Given the description of an element on the screen output the (x, y) to click on. 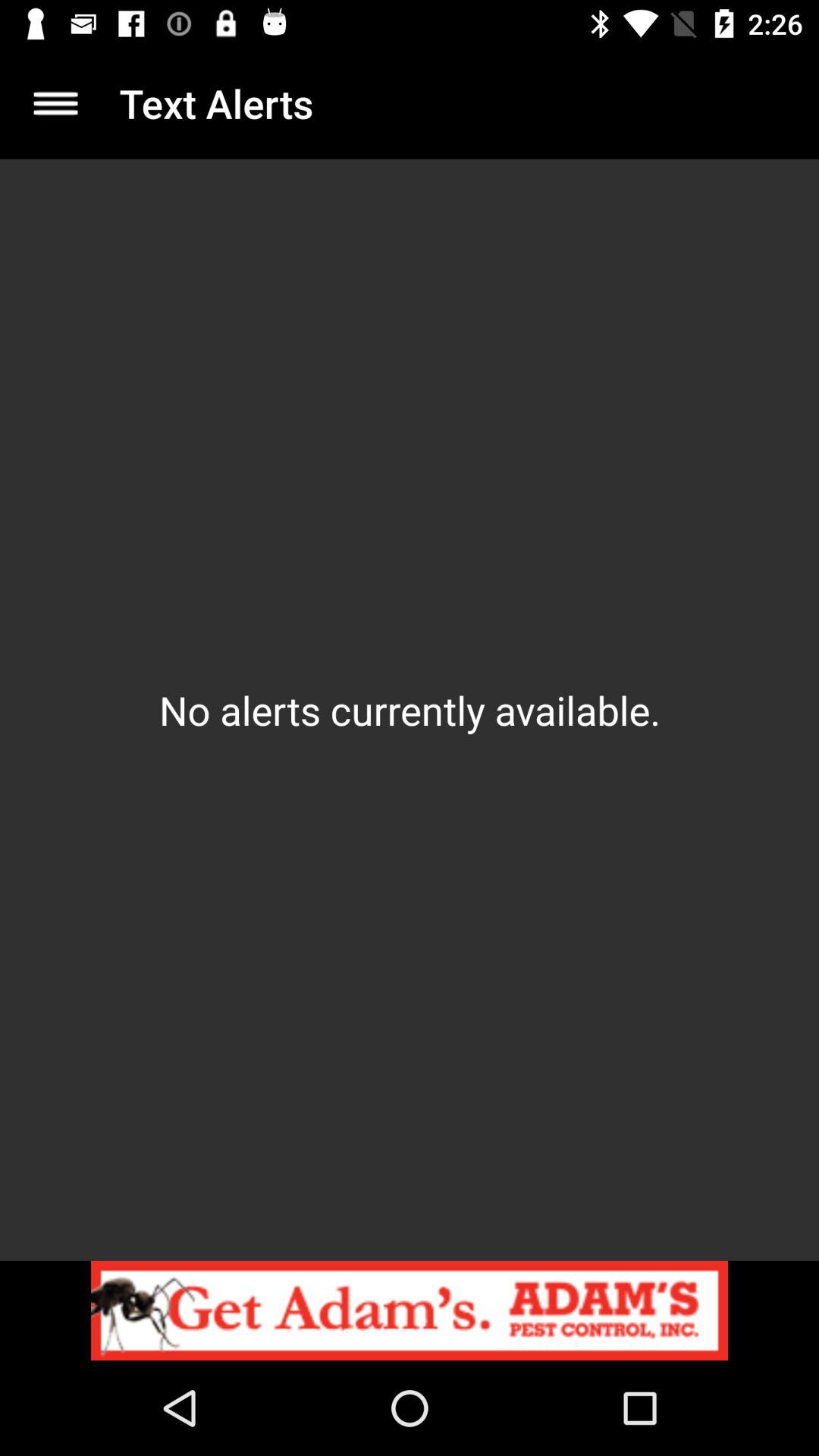
go to website (409, 1310)
